Given the description of an element on the screen output the (x, y) to click on. 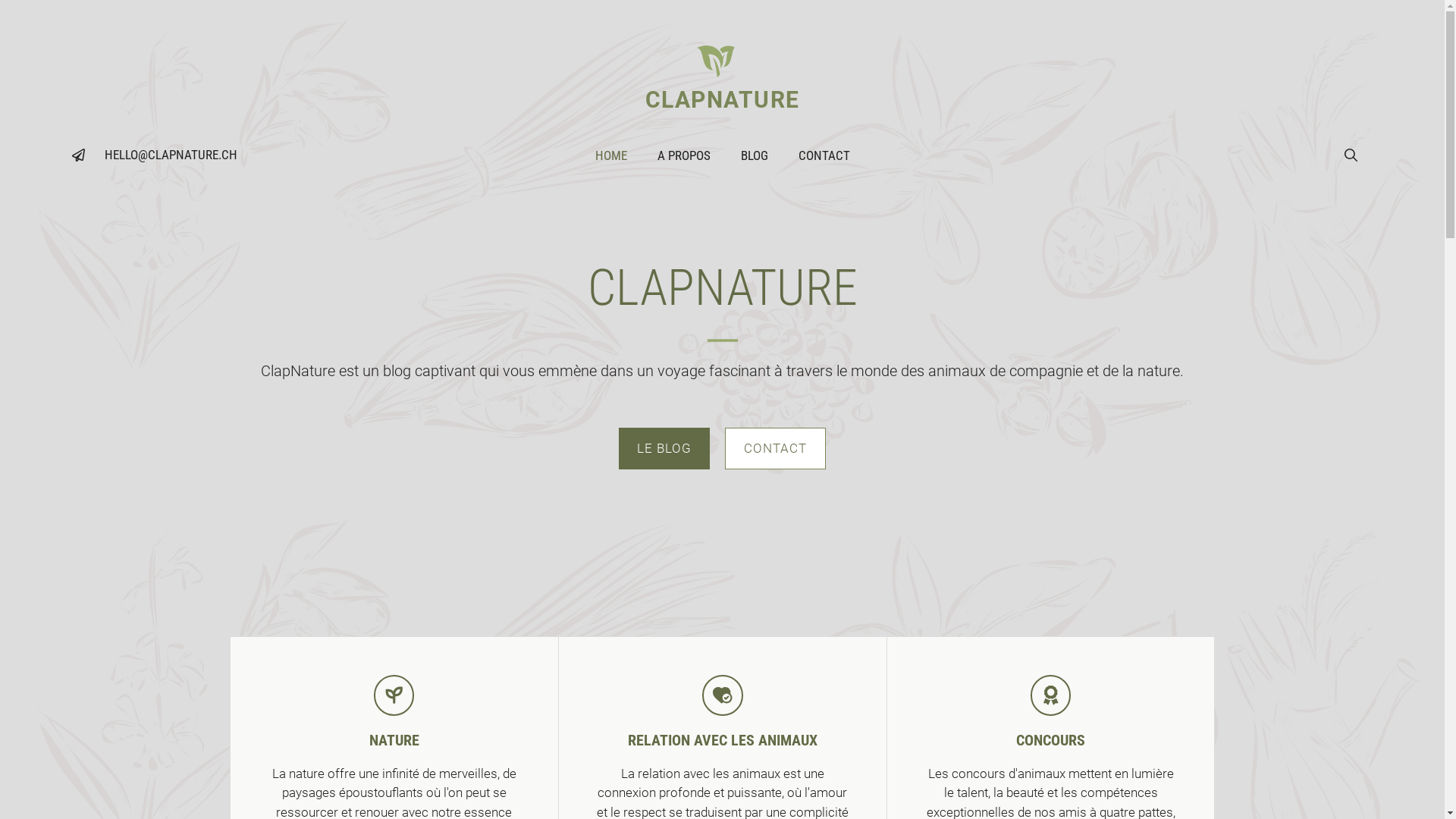
CONTACT Element type: text (774, 448)
CONTACT Element type: text (823, 155)
LE BLOG Element type: text (663, 448)
A PROPOS Element type: text (682, 155)
HELLO@CLAPNATURE.CH Element type: text (170, 155)
HOME Element type: text (610, 155)
BLOG Element type: text (753, 155)
CLAPNATURE Element type: text (721, 99)
